Given the description of an element on the screen output the (x, y) to click on. 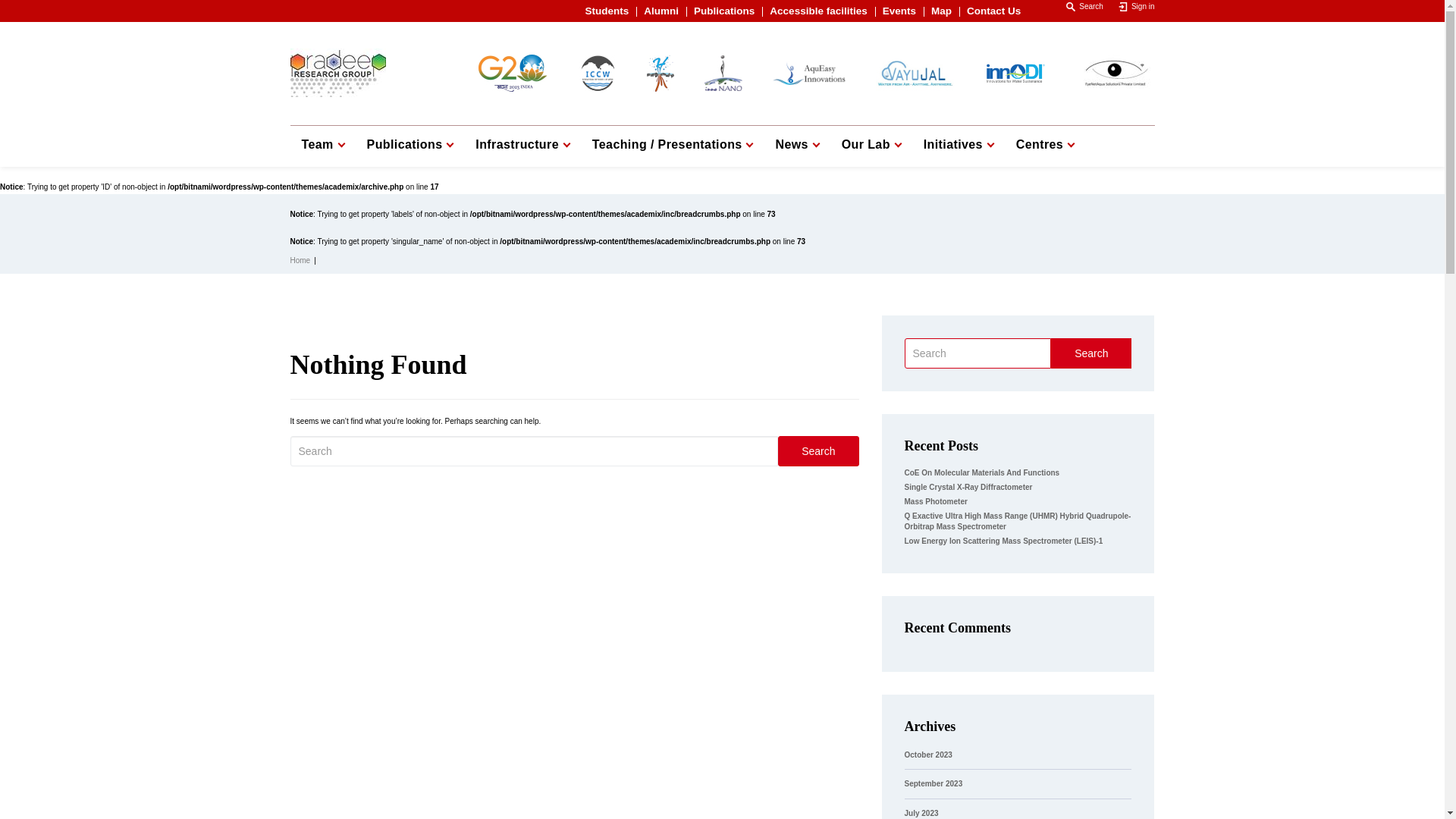
Vayujal (914, 72)
Nano (722, 72)
Students (606, 10)
Pradeep Research Group (338, 73)
InnoDI (1015, 72)
Search (1077, 6)
Alumni (660, 10)
Sign in (1128, 6)
Publications (724, 10)
Team (322, 146)
Team (322, 146)
Eyenet (1115, 71)
Publications (409, 146)
AquEasy innovations (807, 72)
Map (941, 10)
